Given the description of an element on the screen output the (x, y) to click on. 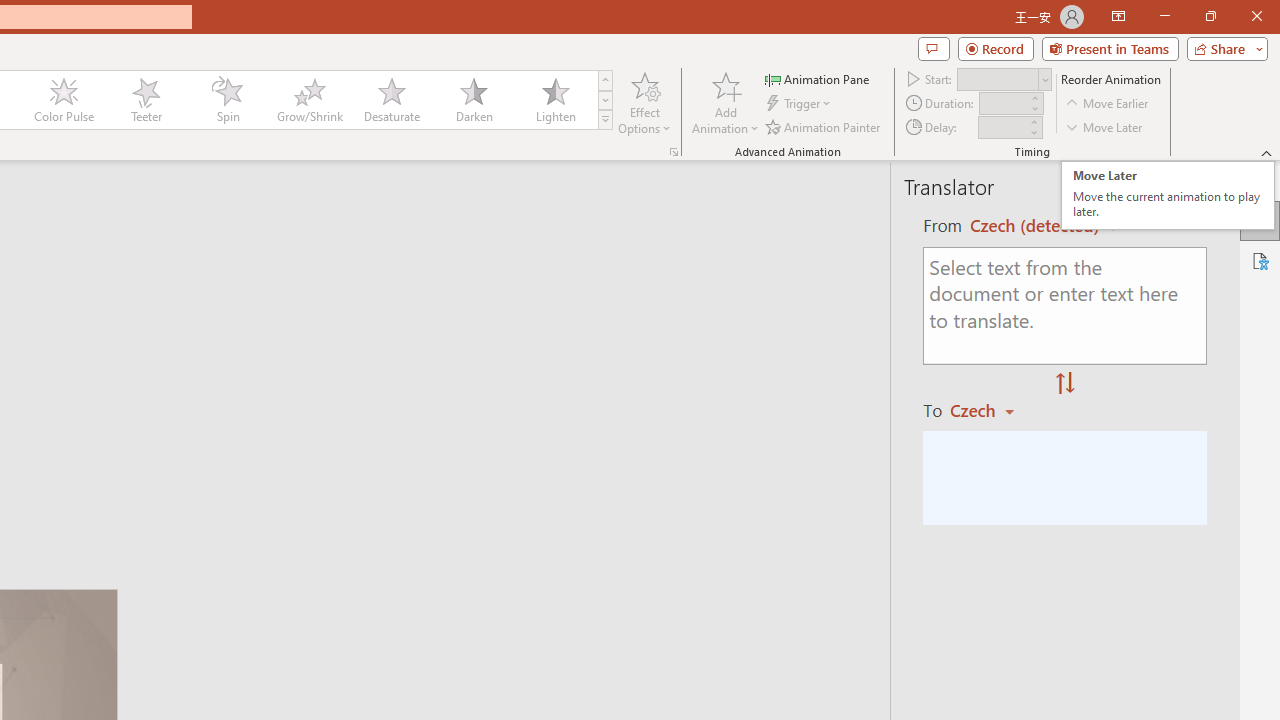
Czech (detected) (1037, 225)
Swap "from" and "to" languages. (1065, 383)
Animation Painter (824, 126)
Effect Options (644, 102)
Darken (473, 100)
